Given the description of an element on the screen output the (x, y) to click on. 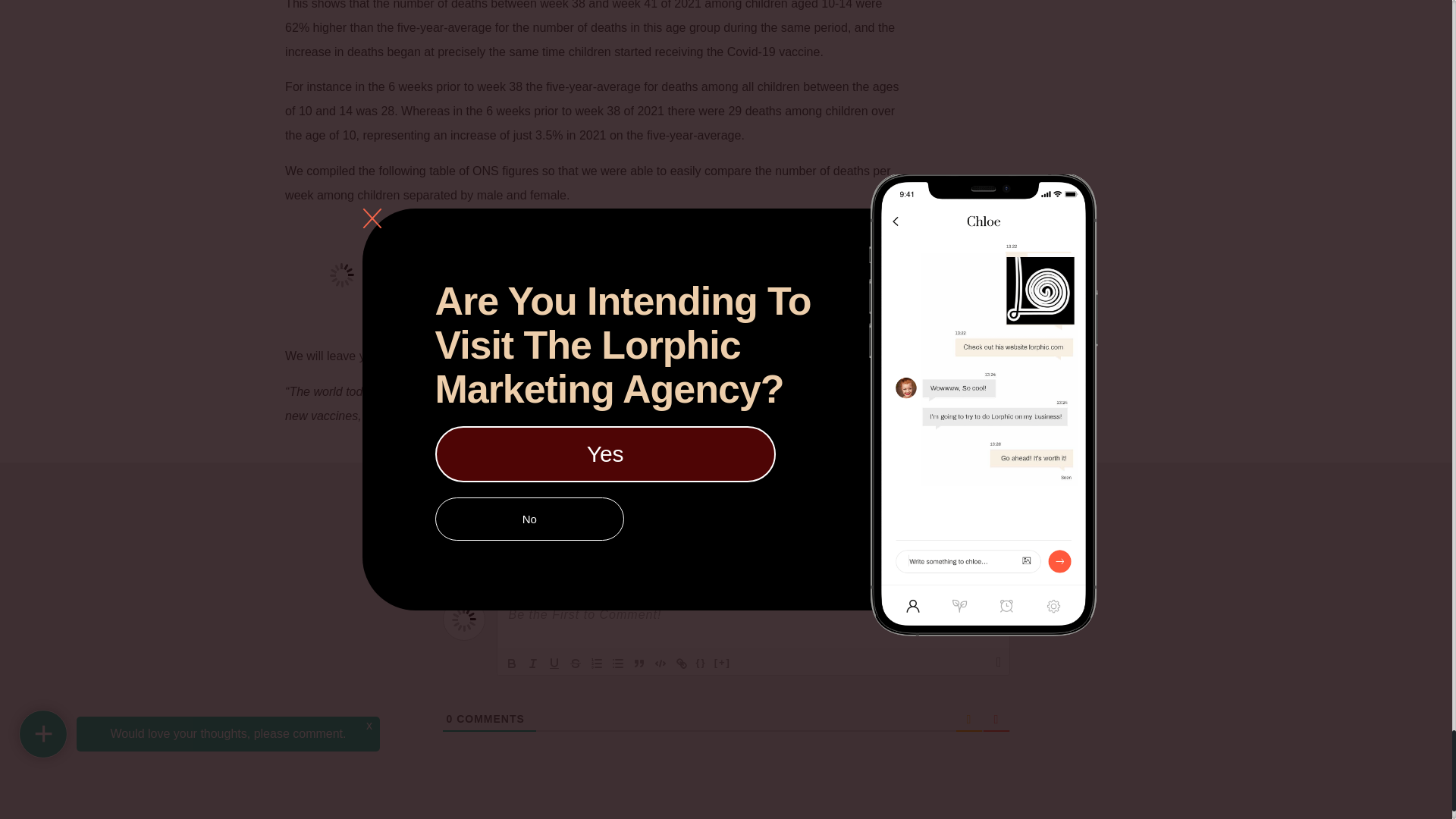
Link (680, 663)
Bold (510, 663)
Source Code (700, 663)
Unordered List (617, 663)
Strike (574, 663)
Spoiler (722, 663)
Code Block (659, 663)
Ordered List (596, 663)
Blockquote (638, 663)
Italic (532, 663)
Underline (553, 663)
